Given the description of an element on the screen output the (x, y) to click on. 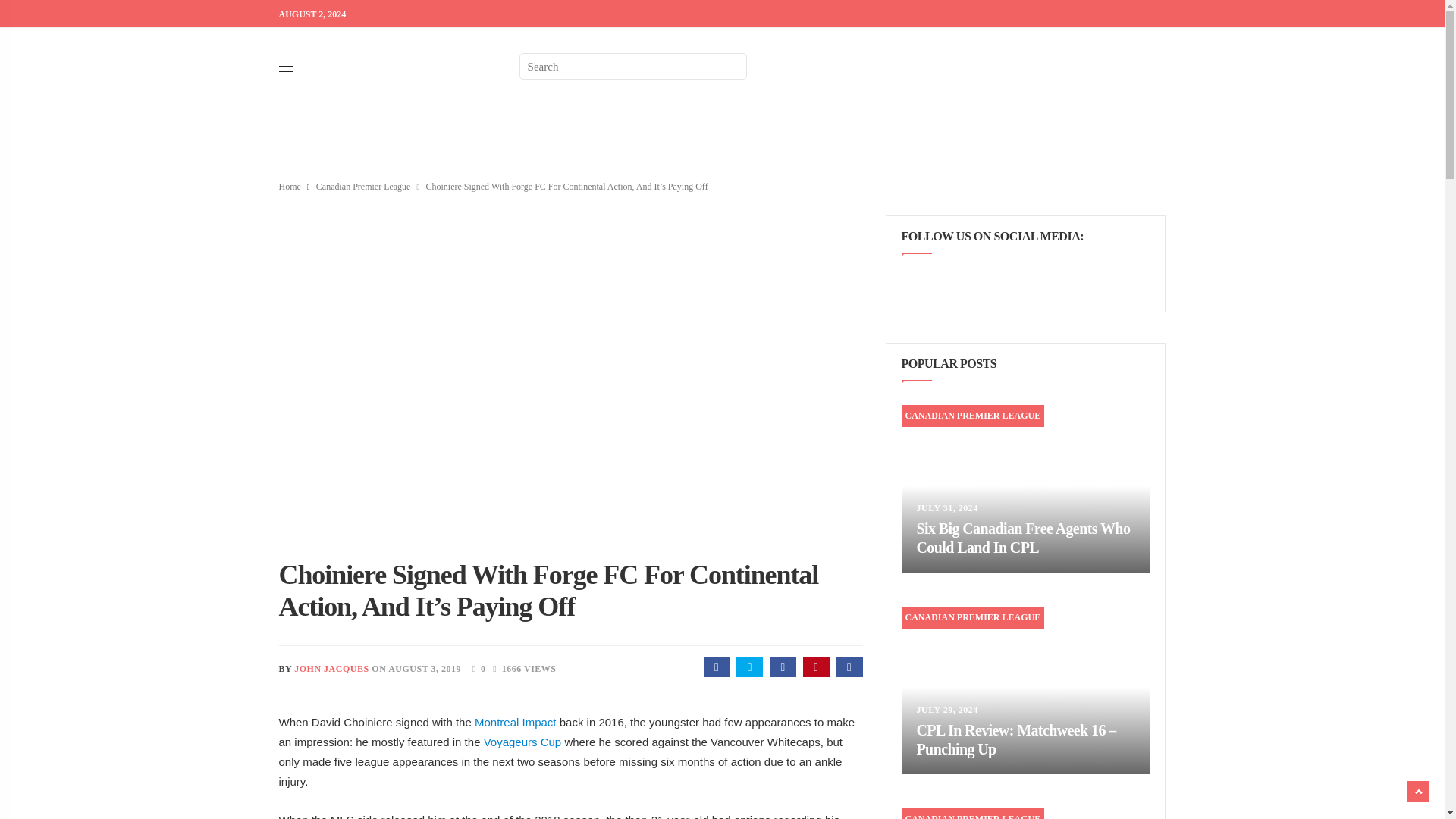
Home (290, 185)
Voyageurs Cup (522, 741)
Canadian Premier League (362, 185)
JOHN JACQUES (331, 668)
0 (475, 667)
Home (290, 185)
Montreal Impact (515, 721)
